Given the description of an element on the screen output the (x, y) to click on. 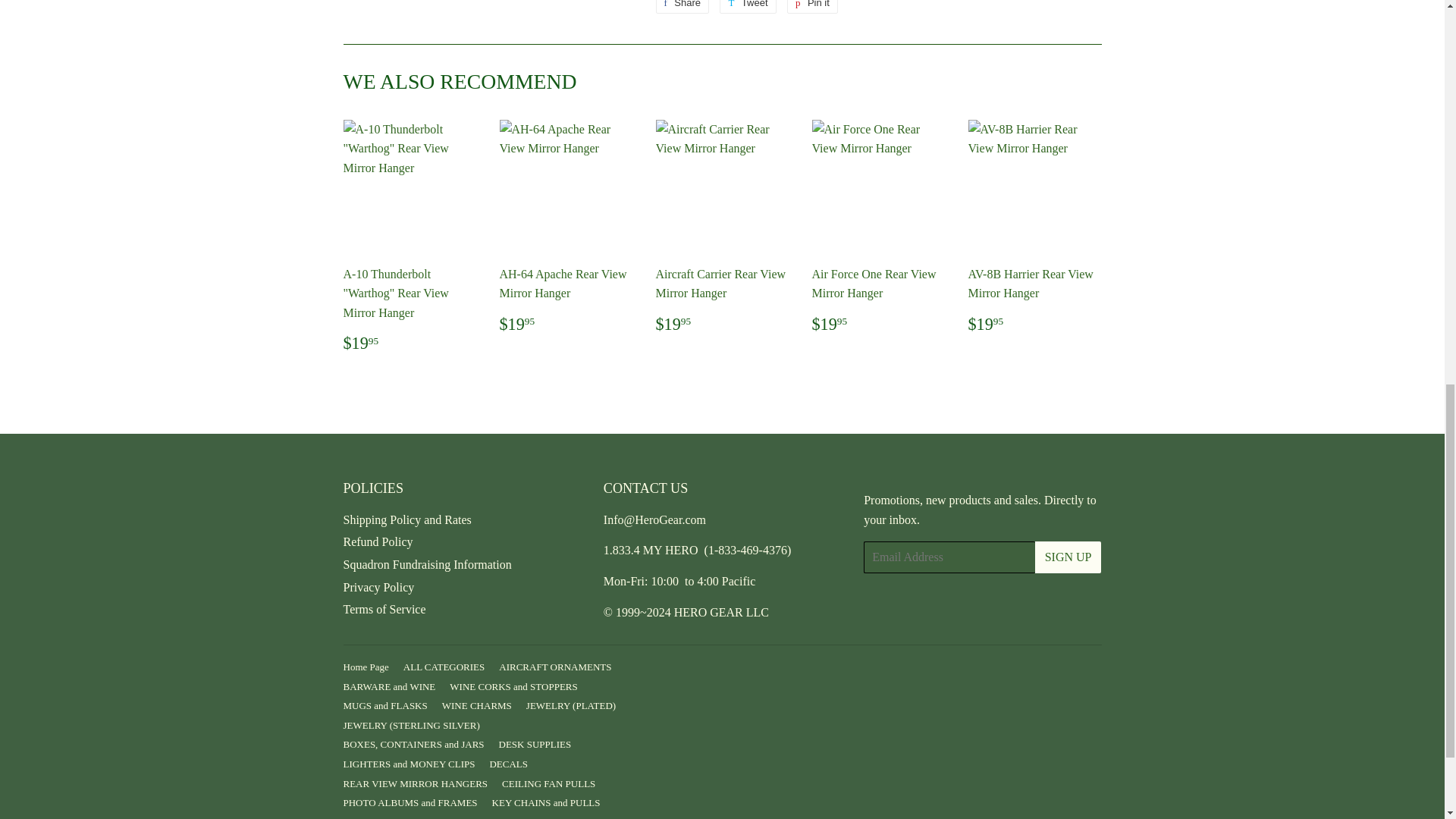
Pin on Pinterest (812, 6)
Share on Facebook (682, 6)
Tweet on Twitter (747, 6)
